Given the description of an element on the screen output the (x, y) to click on. 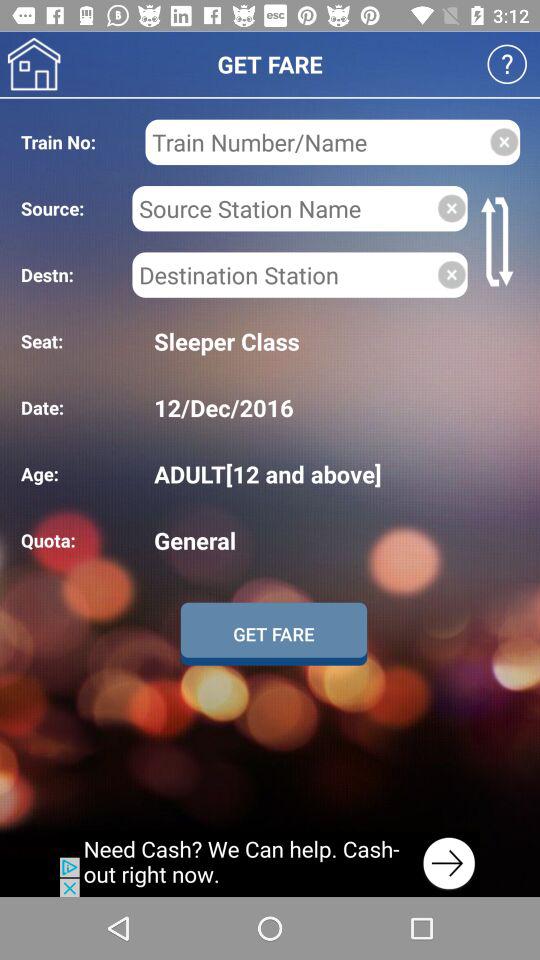
exit (504, 141)
